Given the description of an element on the screen output the (x, y) to click on. 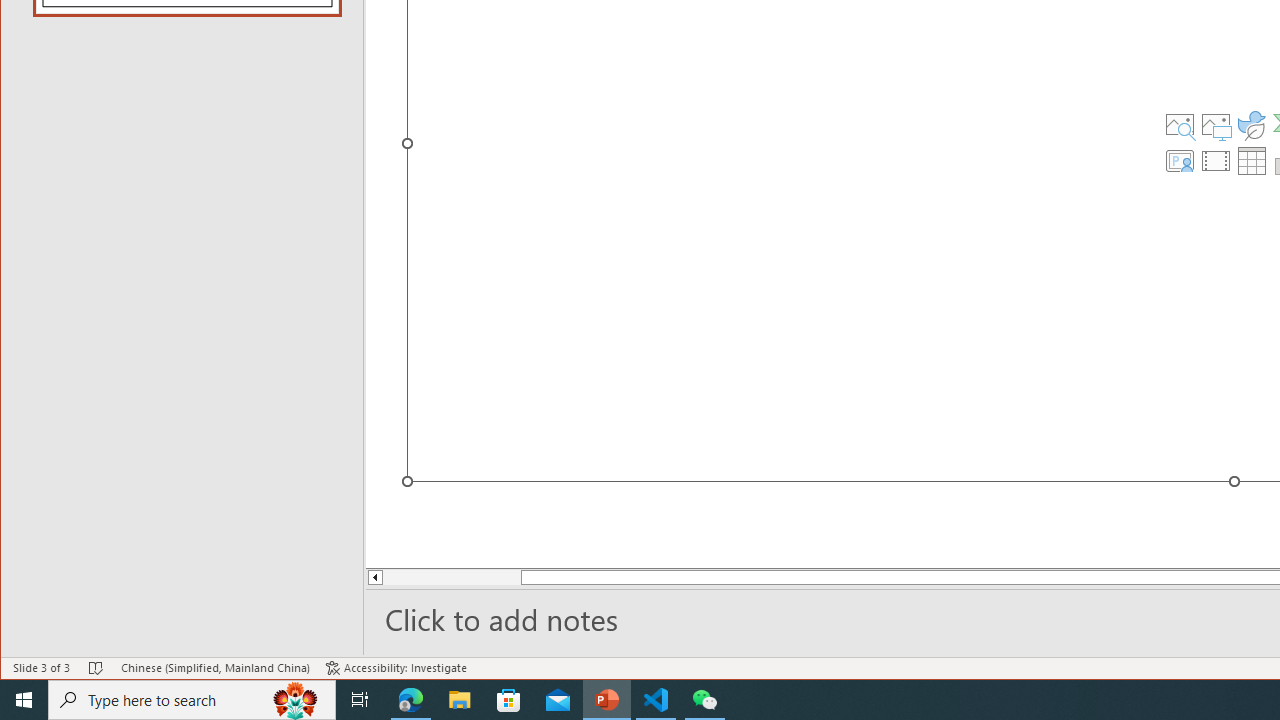
Line up (374, 577)
Insert an Icon (1252, 124)
Task View (359, 699)
Insert Cameo (1179, 160)
Pictures (1215, 124)
Insert Video (1215, 160)
Insert Table (1252, 160)
Spell Check No Errors (96, 668)
Accessibility Checker Accessibility: Investigate (395, 668)
Microsoft Store (509, 699)
Microsoft Edge - 1 running window (411, 699)
Visual Studio Code - 1 running window (656, 699)
Search highlights icon opens search home window (295, 699)
PowerPoint - 1 running window (607, 699)
Type here to search (191, 699)
